Given the description of an element on the screen output the (x, y) to click on. 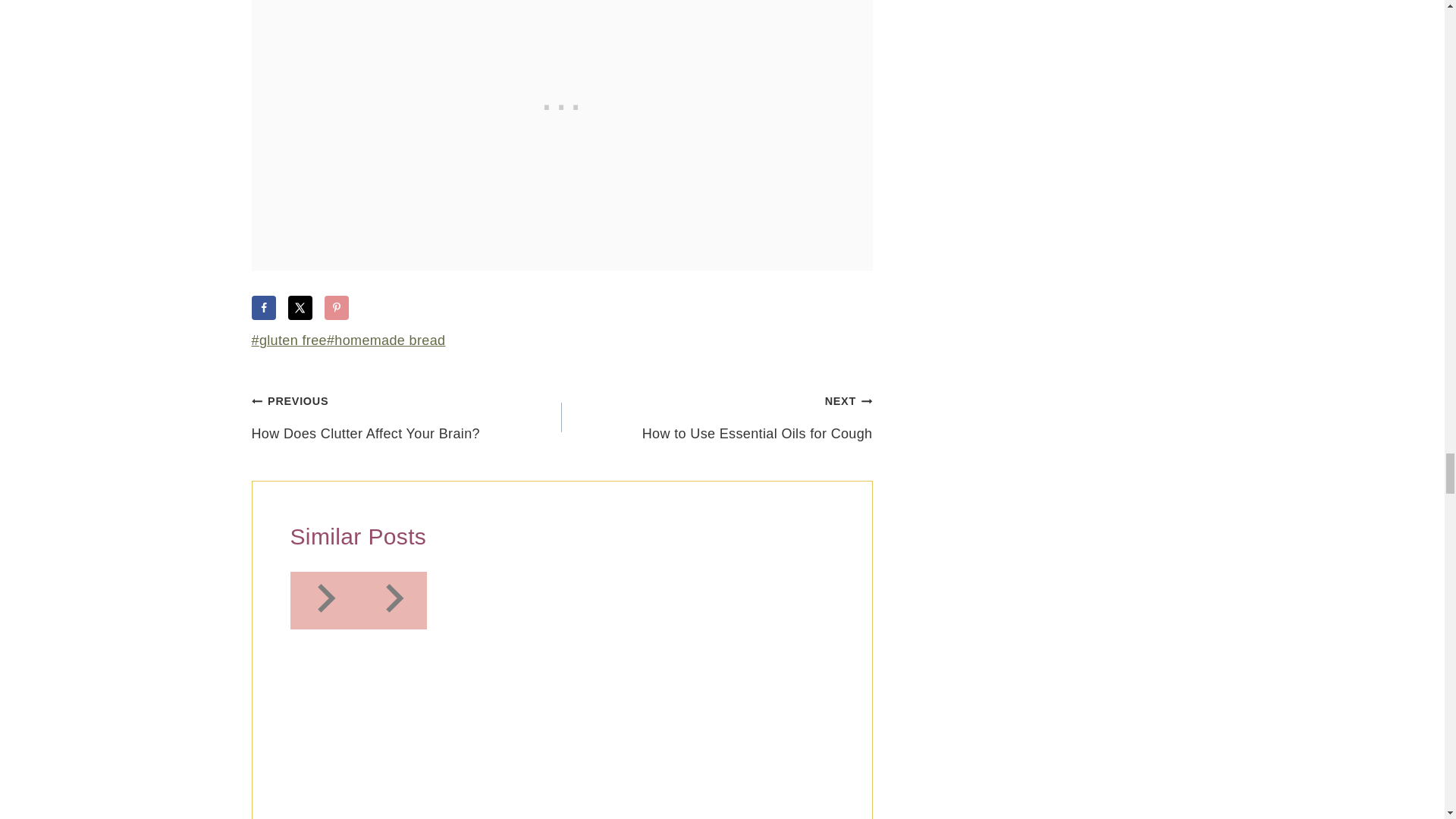
Share on X (300, 307)
homemade bread (385, 340)
Share on Facebook (263, 307)
Save to Pinterest (336, 307)
gluten free (288, 340)
